Given the description of an element on the screen output the (x, y) to click on. 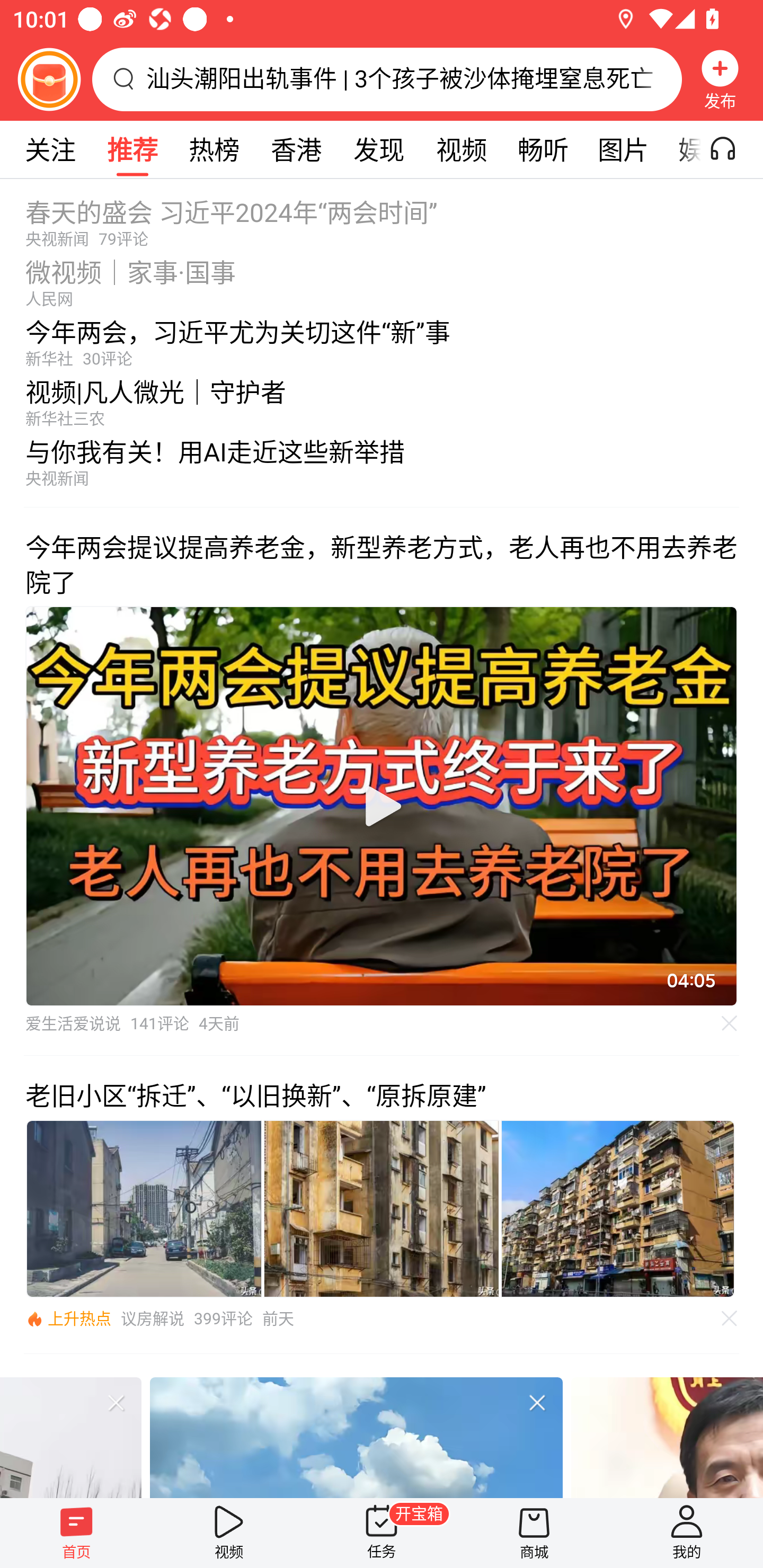
阅读赚金币 (48, 79)
发布 发布，按钮 (720, 78)
关注 (50, 149)
推荐 (132, 149)
热榜 (213, 149)
香港 (295, 149)
发现 (378, 149)
视频 (461, 149)
畅听 (542, 149)
图片 (623, 149)
听一听开关 (732, 149)
微视频｜家事·国事人民网 视频 微视频｜家事·国事 人民网 (381, 277)
视频|凡人微光｜守护者新华社三农 文章 视频|凡人微光｜守护者 新华社三农 (381, 398)
与你我有关！用AI走近这些新举措央视新闻 文章 与你我有关！用AI走近这些新举措 央视新闻 (381, 467)
播放视频 视频播放器，双击屏幕打开播放控制 (381, 805)
播放视频 (381, 806)
不感兴趣 (729, 1023)
内容图片 (143, 1208)
内容图片 (381, 1208)
内容图片 (617, 1208)
不感兴趣 (729, 1318)
不感兴趣 (115, 1402)
不感兴趣 (537, 1402)
首页 (76, 1532)
视频 (228, 1532)
任务 开宝箱 (381, 1532)
商城 (533, 1532)
我的 (686, 1532)
